Given the description of an element on the screen output the (x, y) to click on. 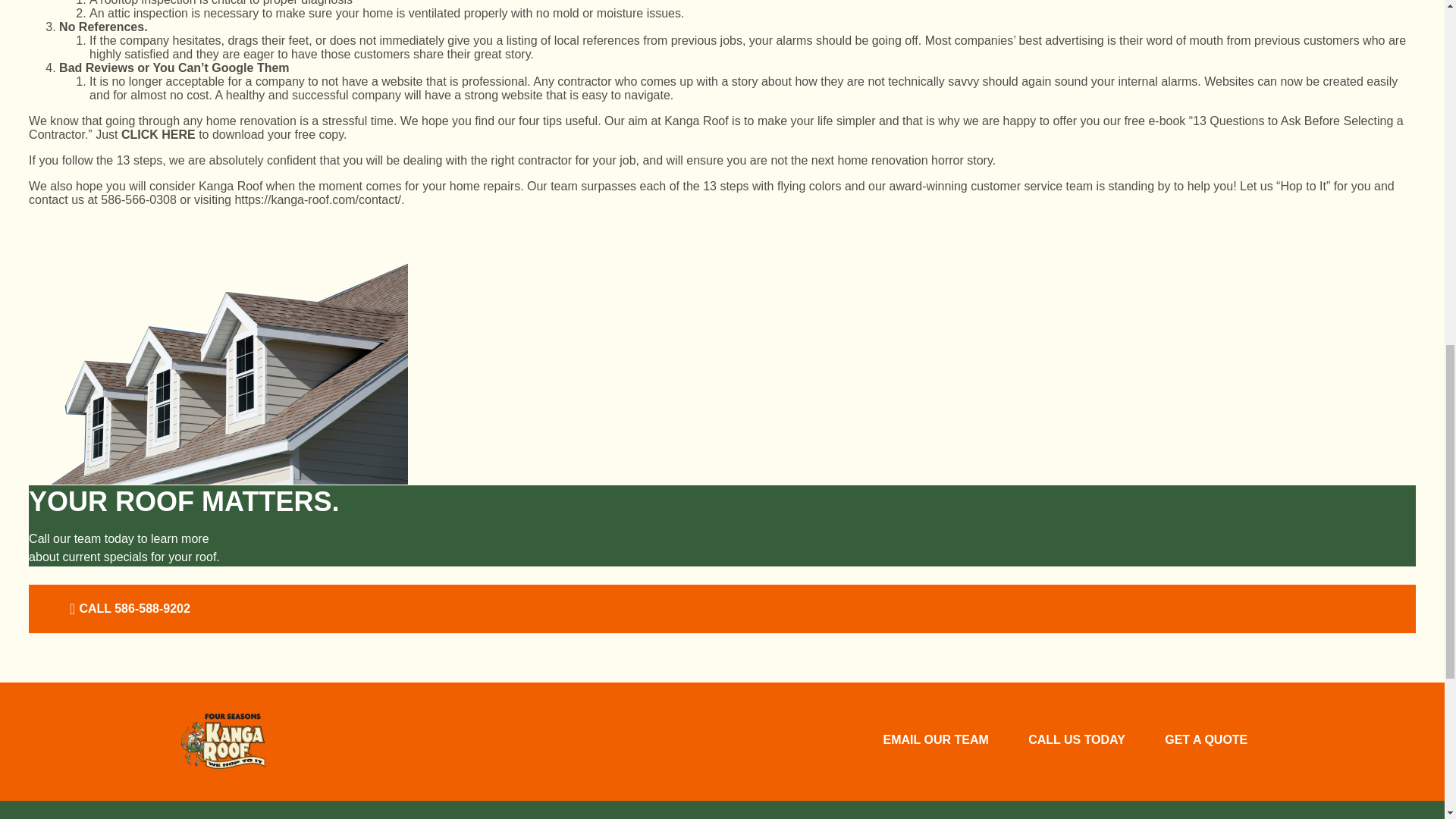
CALL 586-588-9202 (127, 608)
EMAIL OUR TEAM (935, 741)
GET A QUOTE (1205, 741)
CALL US TODAY (1076, 741)
